Given the description of an element on the screen output the (x, y) to click on. 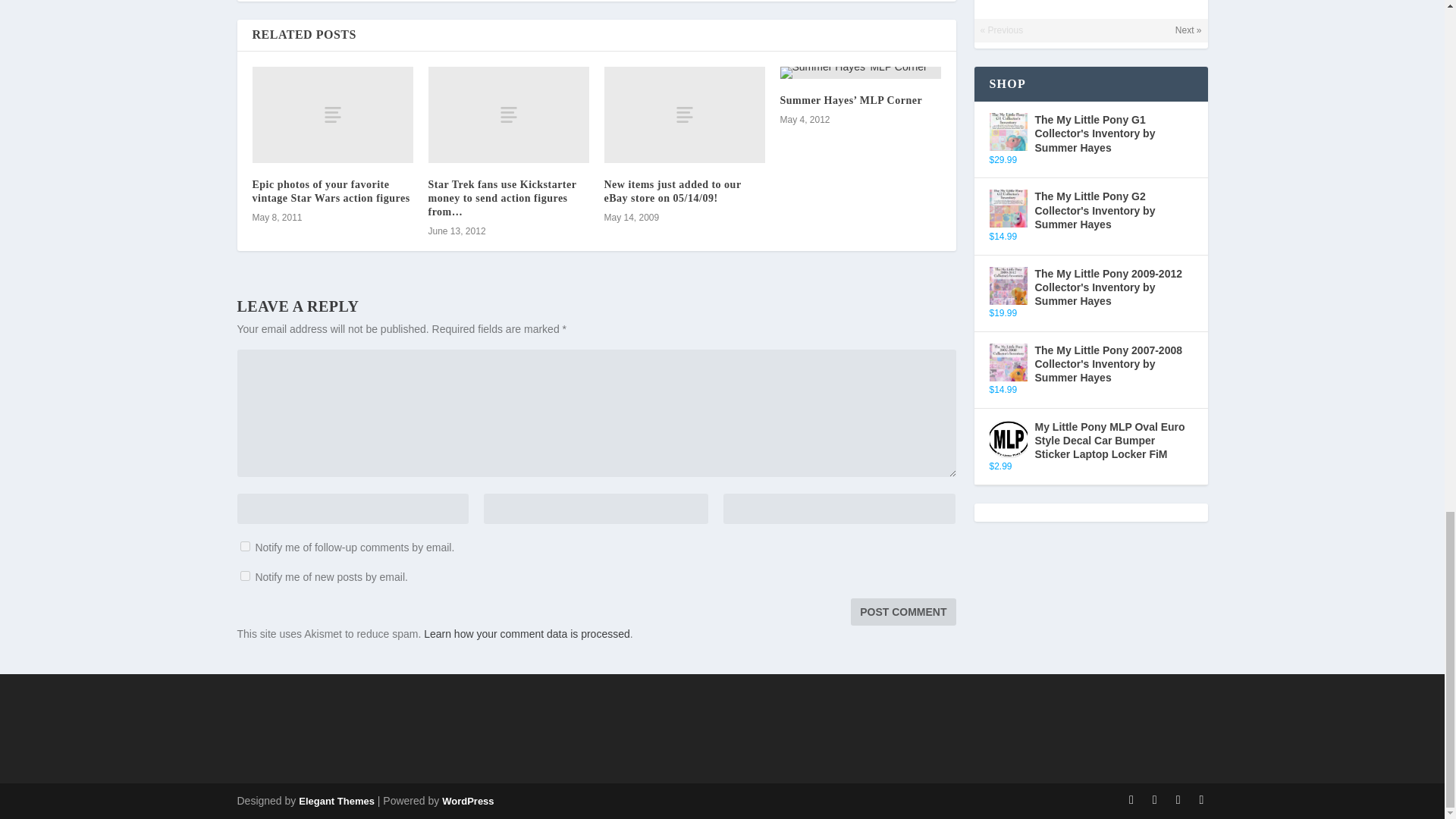
subscribe (244, 575)
subscribe (244, 546)
Post Comment (902, 611)
